Given the description of an element on the screen output the (x, y) to click on. 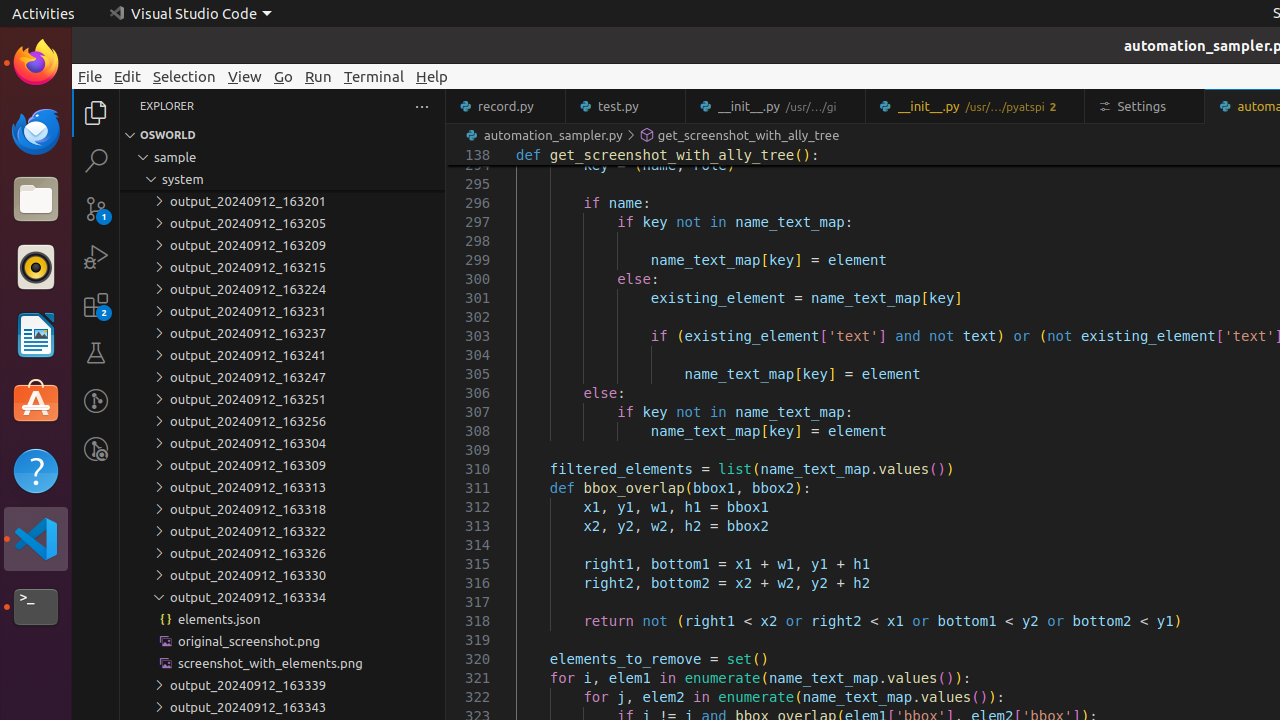
__init__.py Element type: page-tab (975, 106)
output_20240912_163334 Element type: tree-item (282, 597)
output_20240912_163215 Element type: tree-item (282, 267)
Edit Element type: push-button (127, 76)
